Given the description of an element on the screen output the (x, y) to click on. 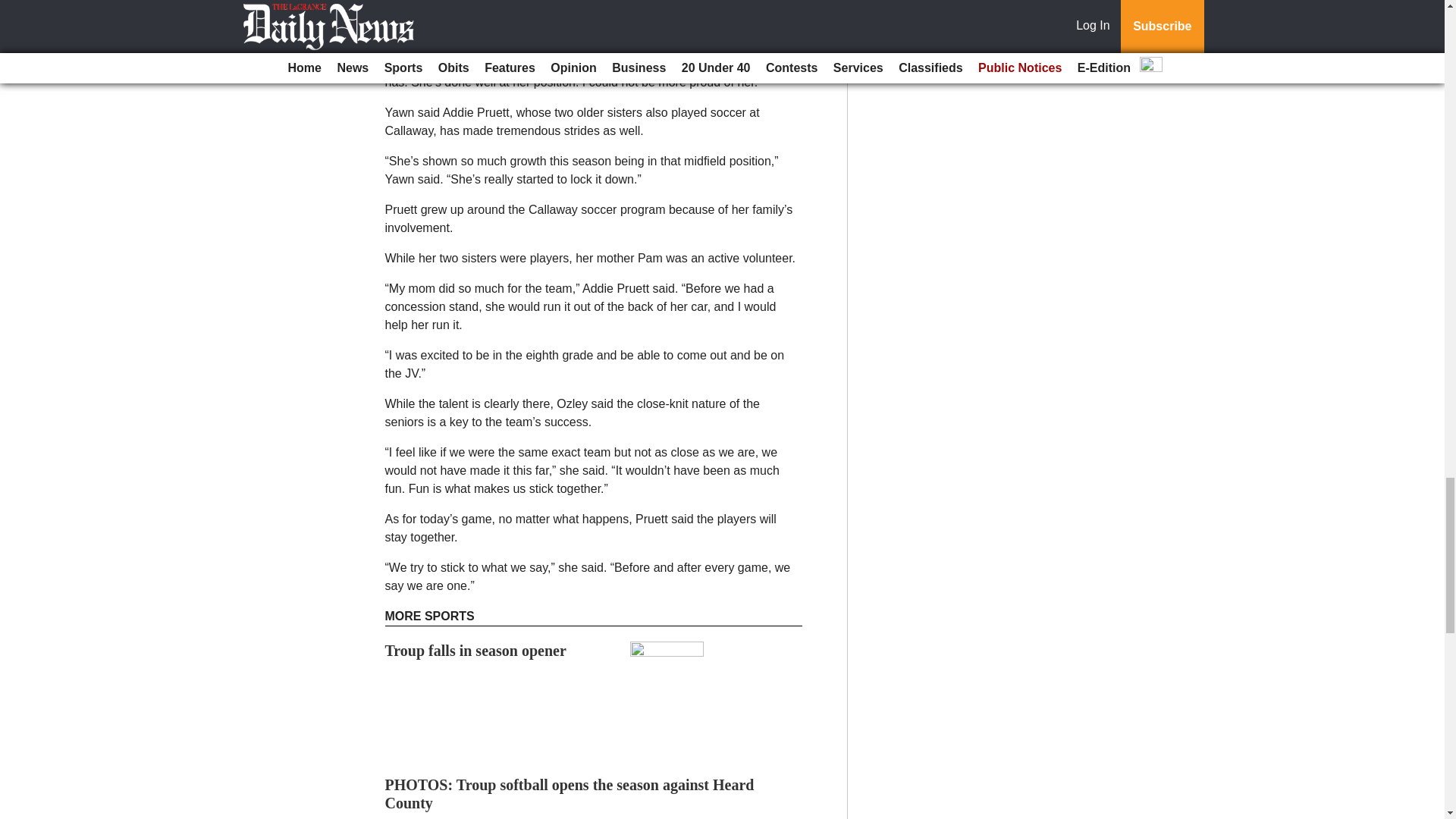
Troup falls in season opener (475, 650)
Troup falls in season opener (475, 650)
PHOTOS: Troup softball opens the season against Heard County (569, 793)
PHOTOS: Troup softball opens the season against Heard County (569, 793)
